Given the description of an element on the screen output the (x, y) to click on. 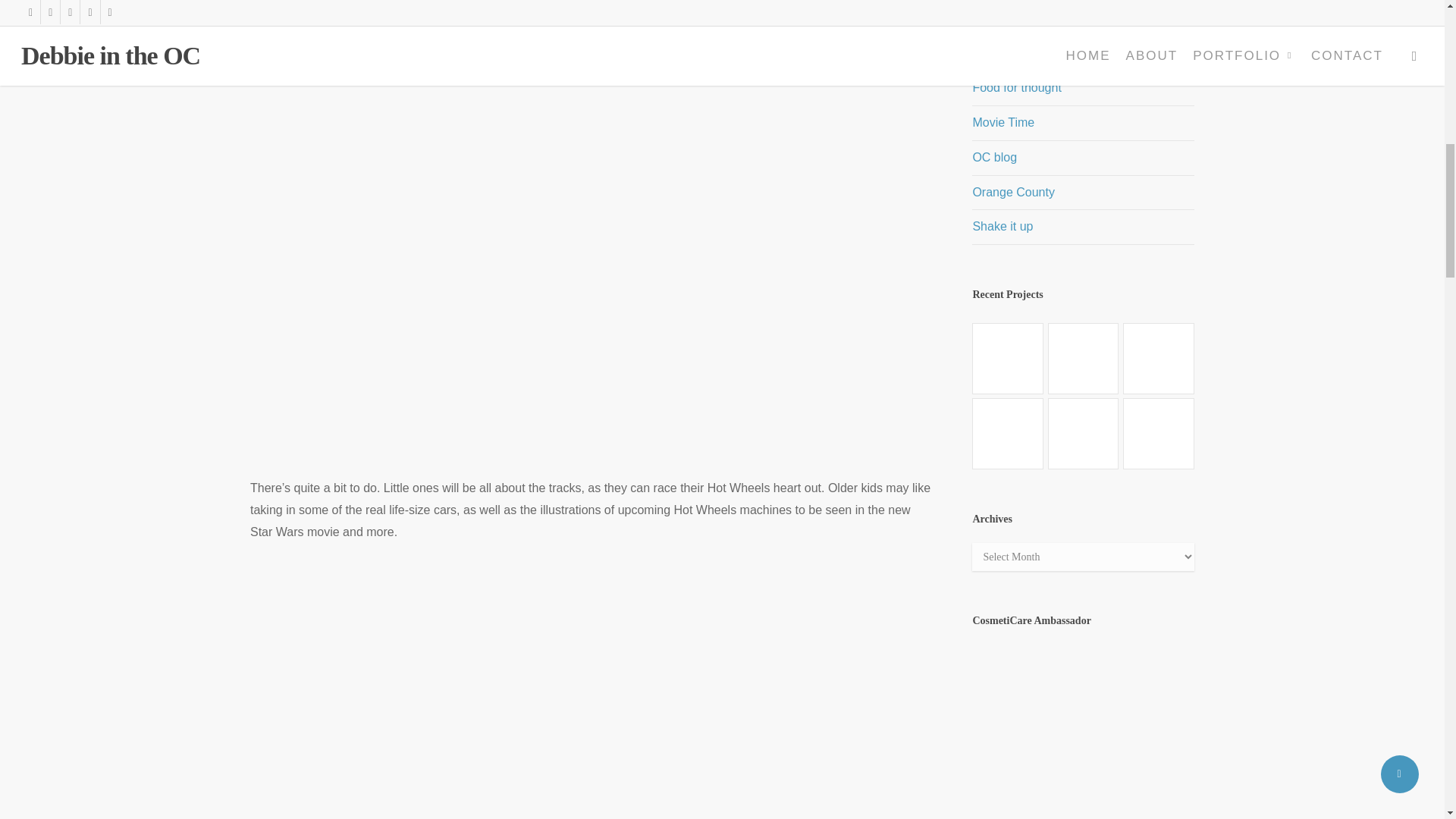
Pelican Hill website writing (1007, 433)
Resort brochure for Pelican Hill (1157, 433)
2016 Oakley work (1083, 357)
Food for thought (1082, 88)
Dining (1082, 19)
2015-2016 Oakley advertising (1157, 357)
OC blog (1082, 158)
Movie Time (1082, 123)
Shake it up (1082, 226)
Orange County (1082, 193)
fashion faves (1082, 53)
